Given the description of an element on the screen output the (x, y) to click on. 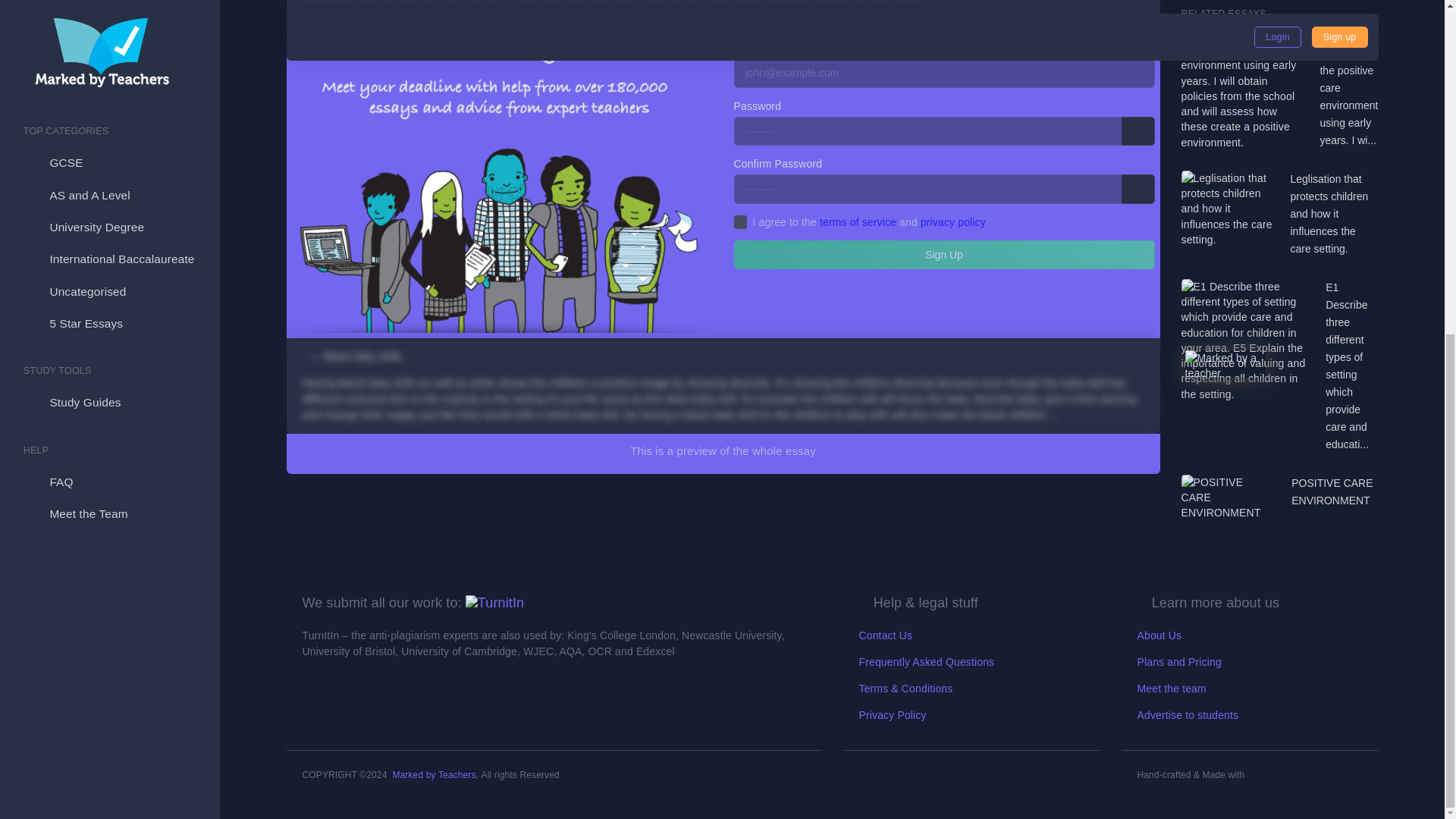
privacy policy (952, 222)
Sign Up (943, 254)
About Us (1159, 635)
terms of service (857, 222)
on (740, 222)
Privacy Policy (892, 715)
POSITIVE CARE ENVIRONMENT (1334, 492)
Frequently Asked Questions (926, 662)
